Given the description of an element on the screen output the (x, y) to click on. 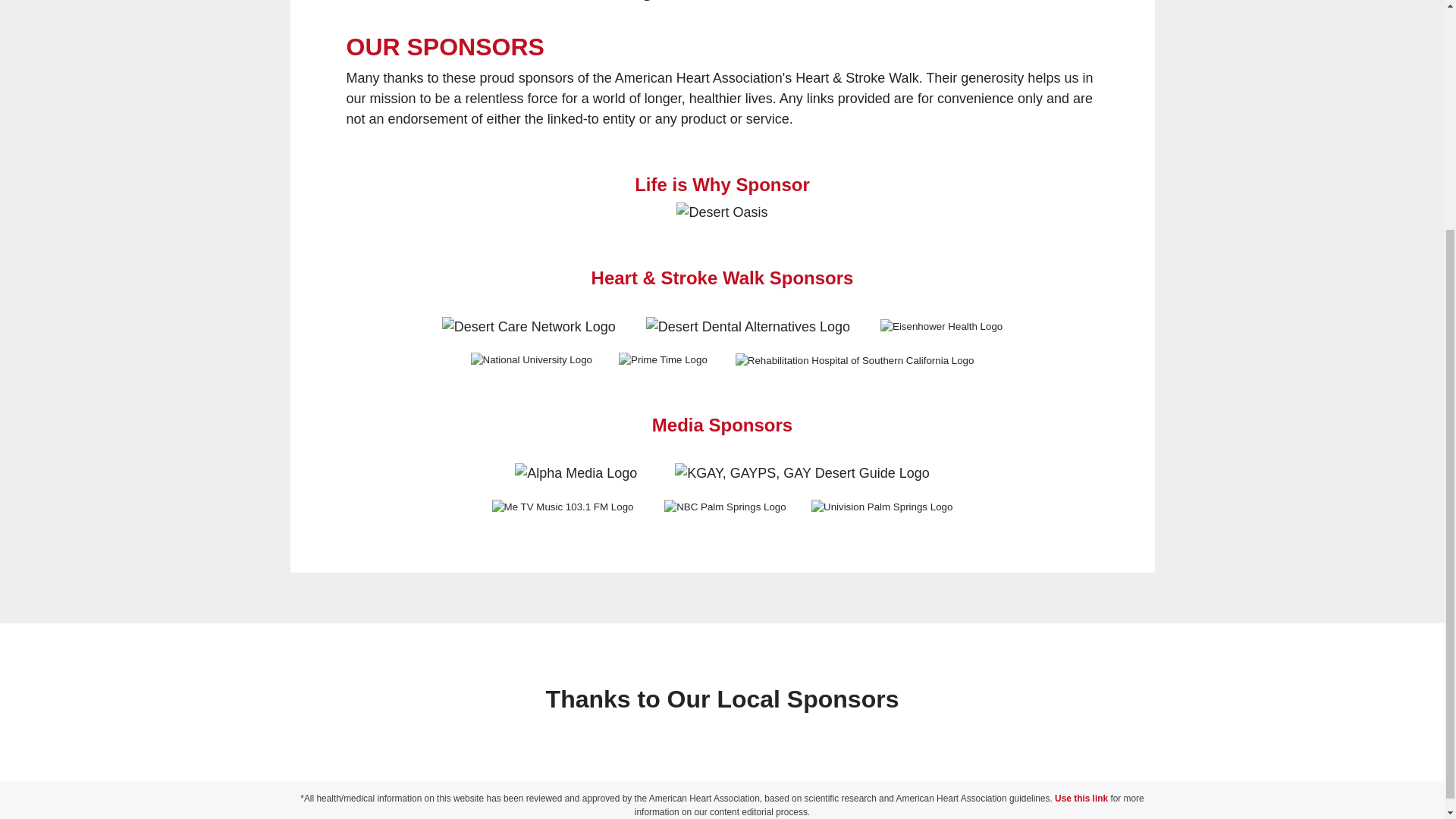
Use this link (1081, 798)
